Given the description of an element on the screen output the (x, y) to click on. 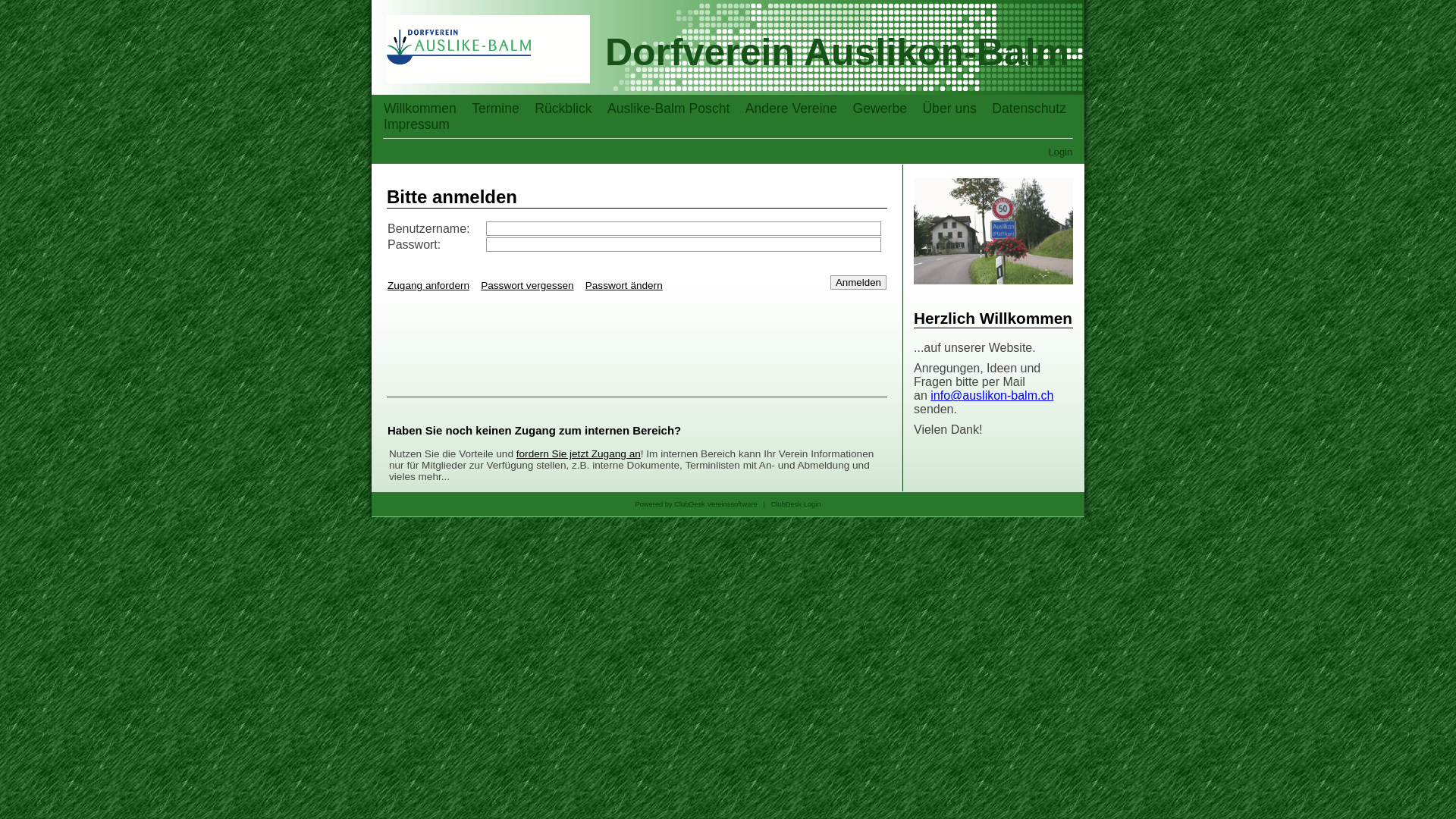
Impressum Element type: text (416, 123)
ClubDesk Login Element type: text (796, 504)
Andere Vereine Element type: text (791, 108)
Gewerbe Element type: text (879, 108)
Auslike-Balm Poscht Element type: text (668, 108)
Willkommen Element type: text (419, 108)
Zugang anfordern Element type: text (428, 285)
Termine Element type: text (495, 108)
Powered by ClubDesk Vereinssoftware Element type: text (695, 504)
info@auslikon-balm.ch Element type: text (991, 395)
Passwort vergessen Element type: text (526, 285)
fordern Sie jetzt Zugang an Element type: text (578, 453)
Login Element type: text (1060, 151)
Datenschutz Element type: text (1028, 108)
Anmelden Element type: text (858, 282)
